Given the description of an element on the screen output the (x, y) to click on. 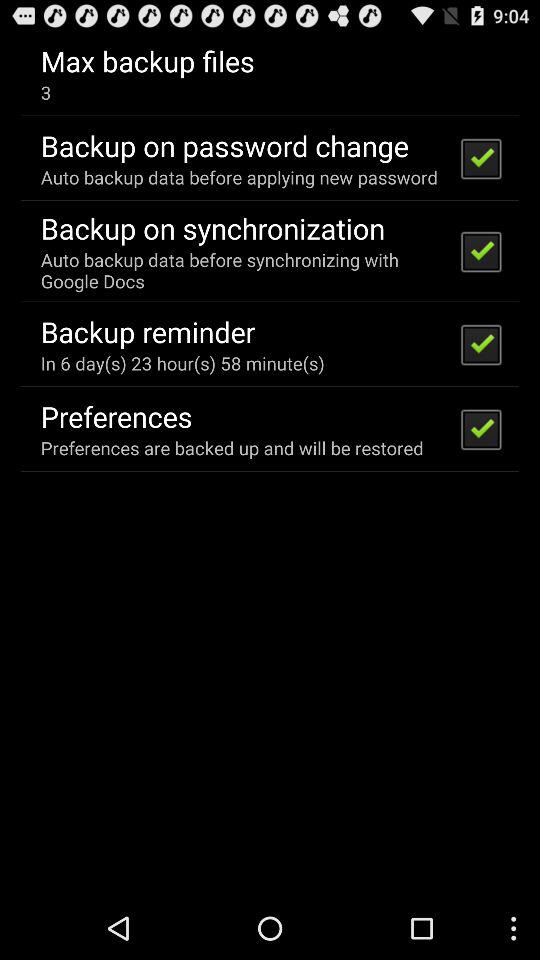
click max backup files (147, 60)
